Given the description of an element on the screen output the (x, y) to click on. 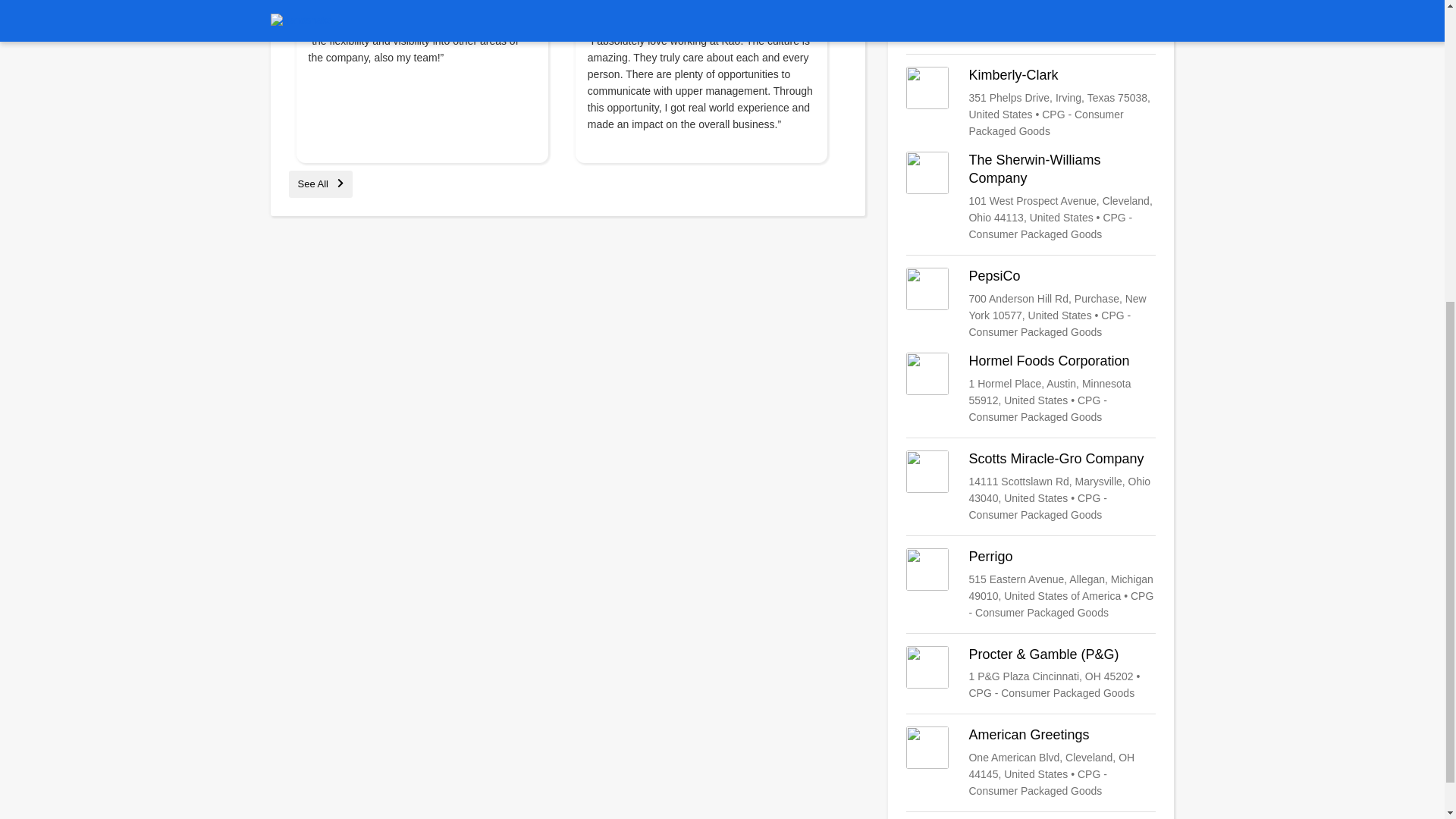
Perrigo (1030, 583)
Amway (1030, 20)
Kimberly-Clark (1030, 102)
The Sherwin-Williams Company (1030, 196)
American Greetings (1030, 762)
Scotts Miracle-Gro Company (1030, 486)
PepsiCo (1030, 303)
See All (320, 183)
Hormel Foods Corporation (1030, 388)
